Given the description of an element on the screen output the (x, y) to click on. 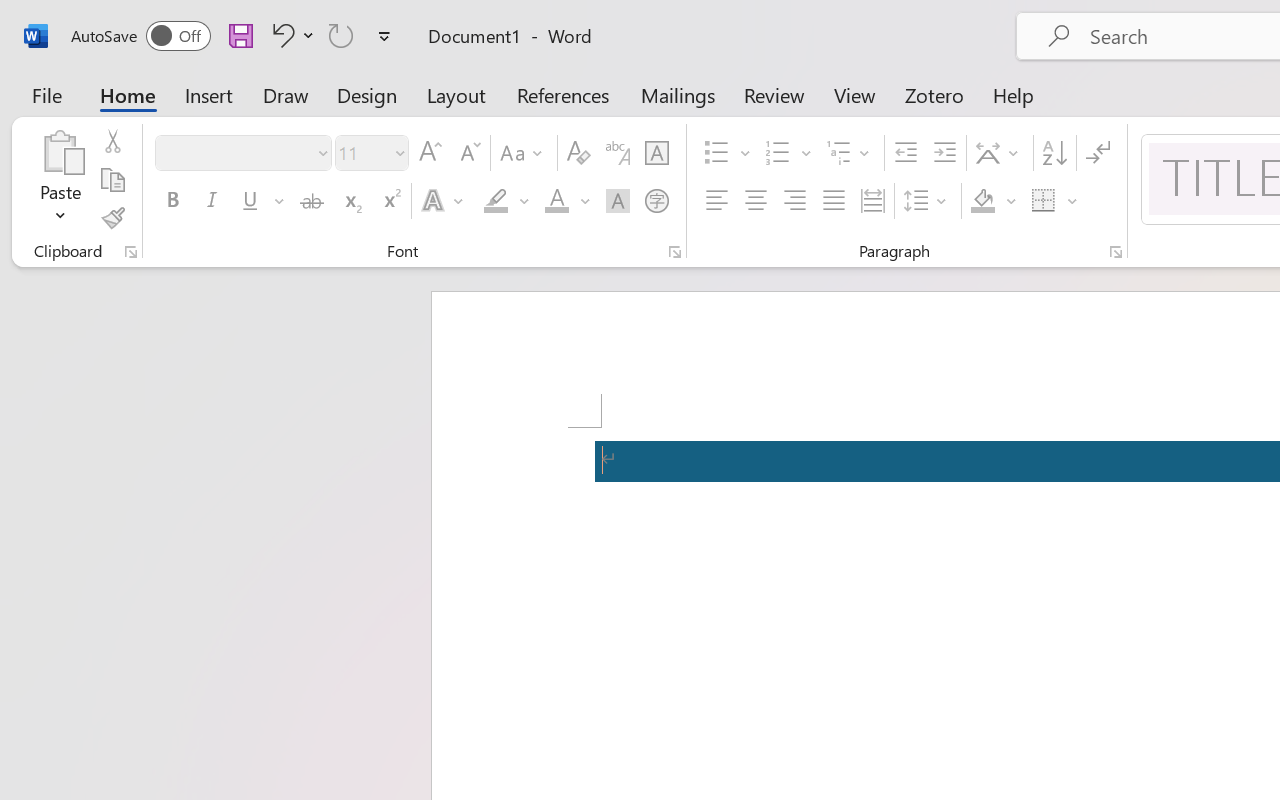
Font Color RGB(255, 0, 0) (556, 201)
Repeat Accessibility Checker (341, 35)
Shading No Color (982, 201)
